Given the description of an element on the screen output the (x, y) to click on. 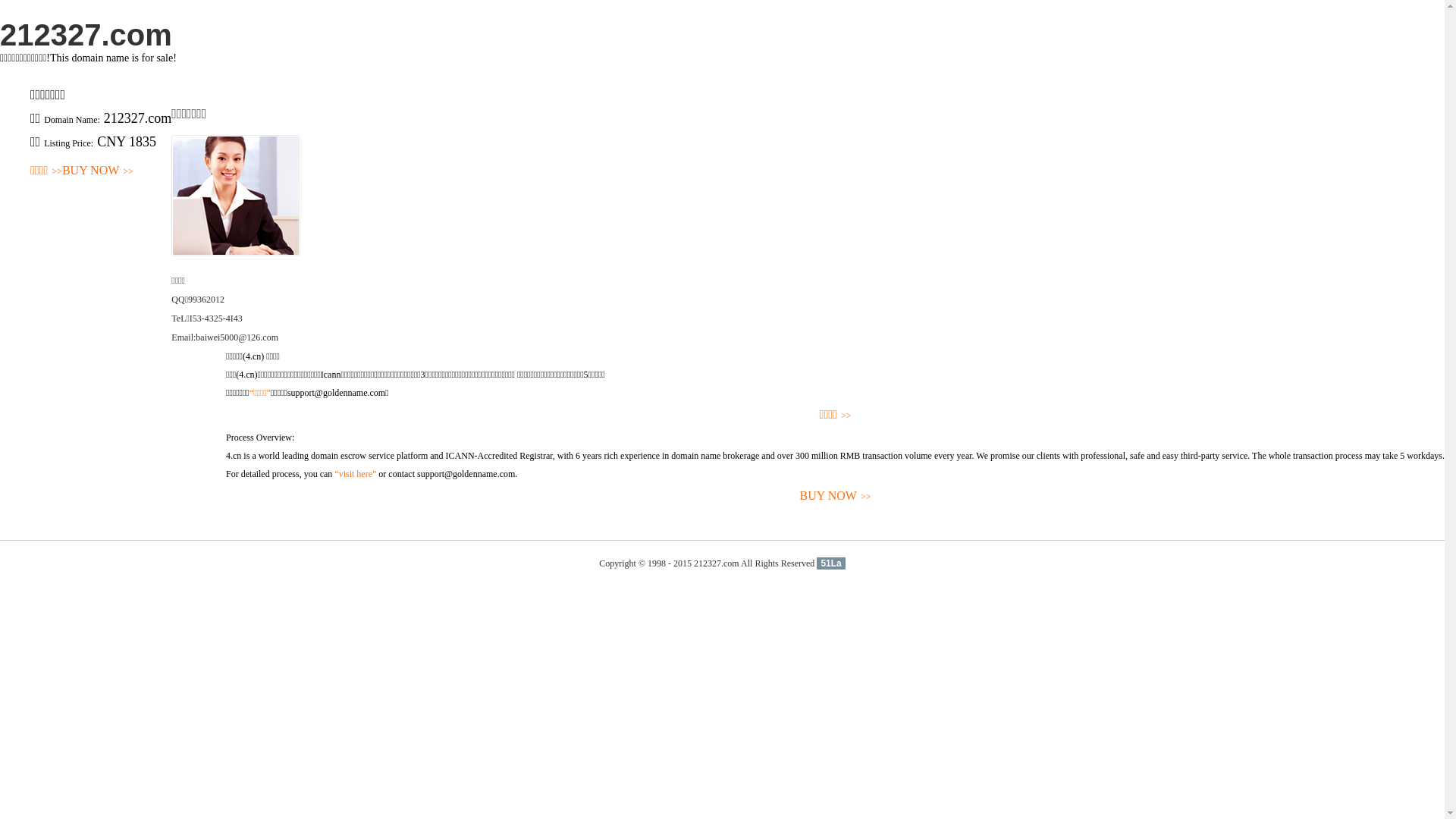
BUY NOW>> Element type: text (834, 496)
51La Element type: text (830, 563)
BUY NOW>> Element type: text (97, 170)
